Given the description of an element on the screen output the (x, y) to click on. 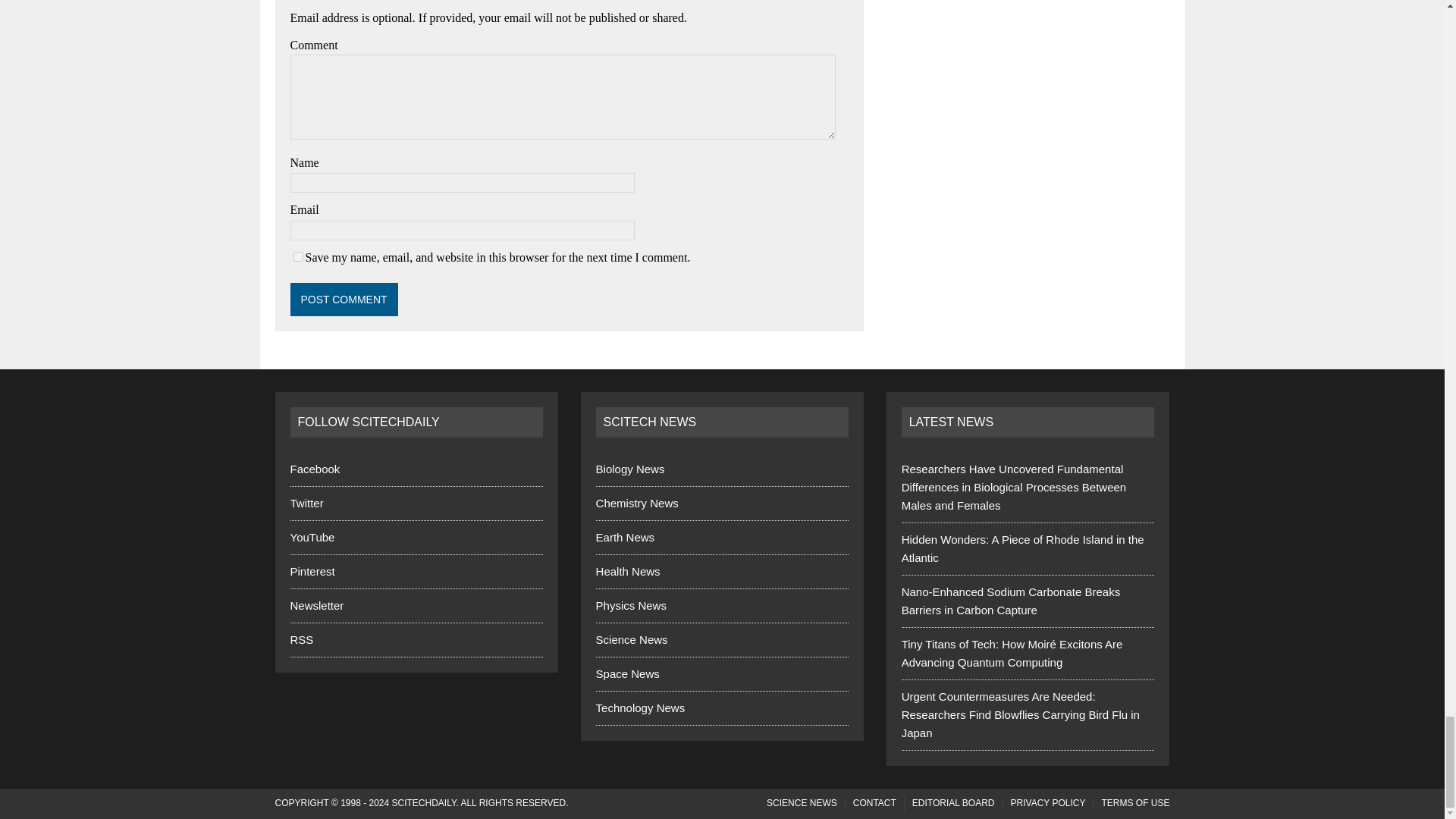
Post Comment (343, 299)
yes (297, 256)
